Given the description of an element on the screen output the (x, y) to click on. 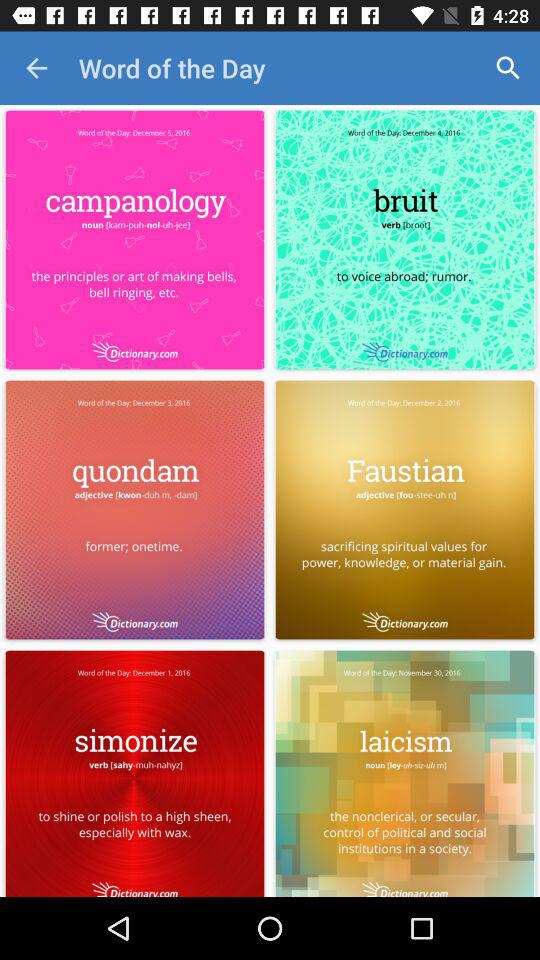
click icon to the left of the word of the (36, 68)
